Given the description of an element on the screen output the (x, y) to click on. 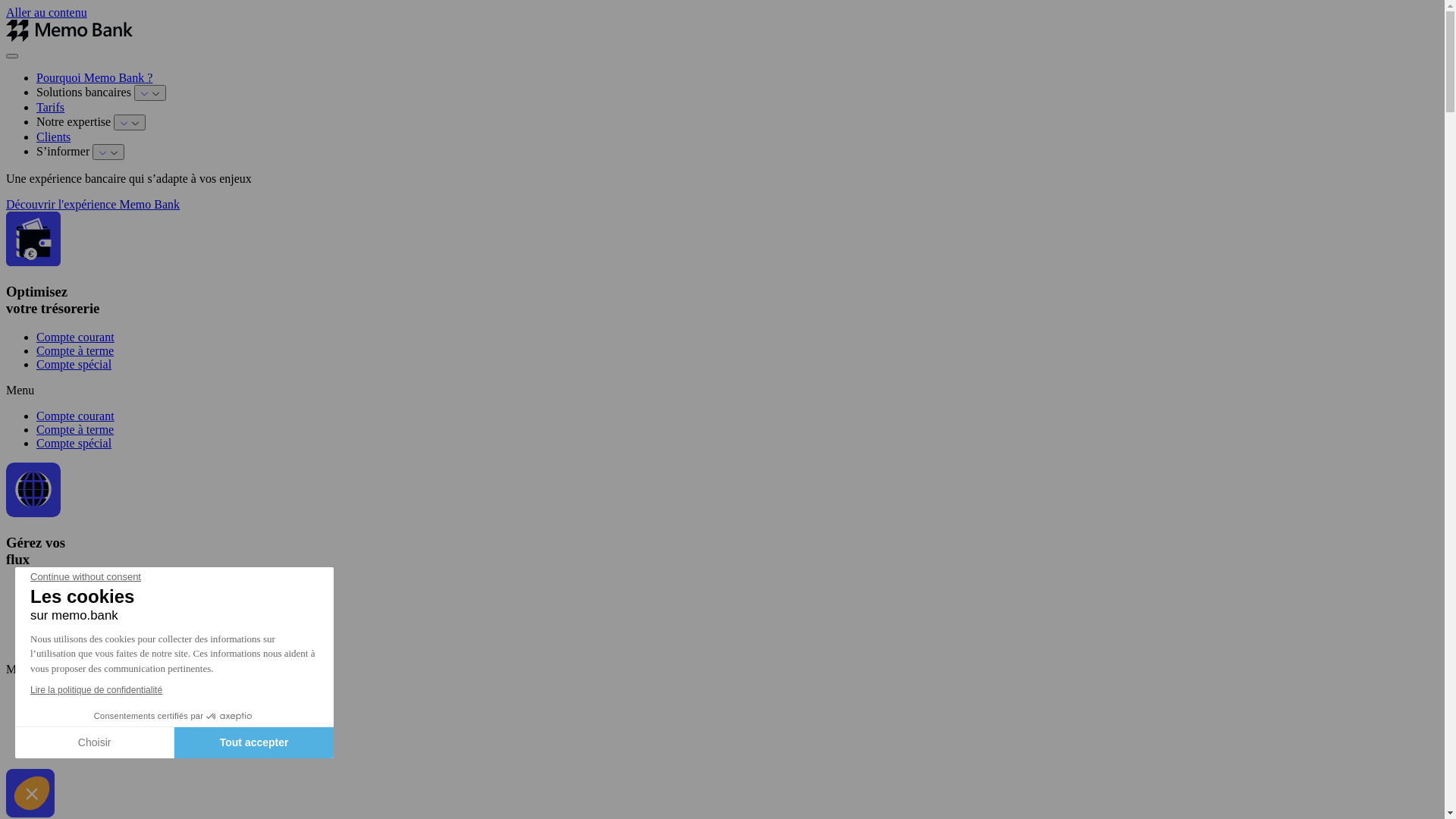
Virement SEPA Element type: text (74, 735)
Carte entreprise Element type: text (74, 602)
Aller au contenu Element type: text (46, 12)
Carte entreprise Element type: text (74, 708)
Virement SEPA Element type: text (74, 629)
Virement SWIFT Element type: text (78, 643)
Tarifs Element type: text (50, 106)
Virement SWIFT Element type: text (78, 749)
Automatisation des flux Element type: text (94, 588)
Clients Element type: text (53, 136)
Automatisation des flux Element type: text (94, 694)
Compte courant Element type: text (75, 415)
Continuer sans accepter Element type: hover (31, 793)
Compte courant Element type: text (75, 336)
Pourquoi Memo Bank ? Element type: text (94, 77)
